Given the description of an element on the screen output the (x, y) to click on. 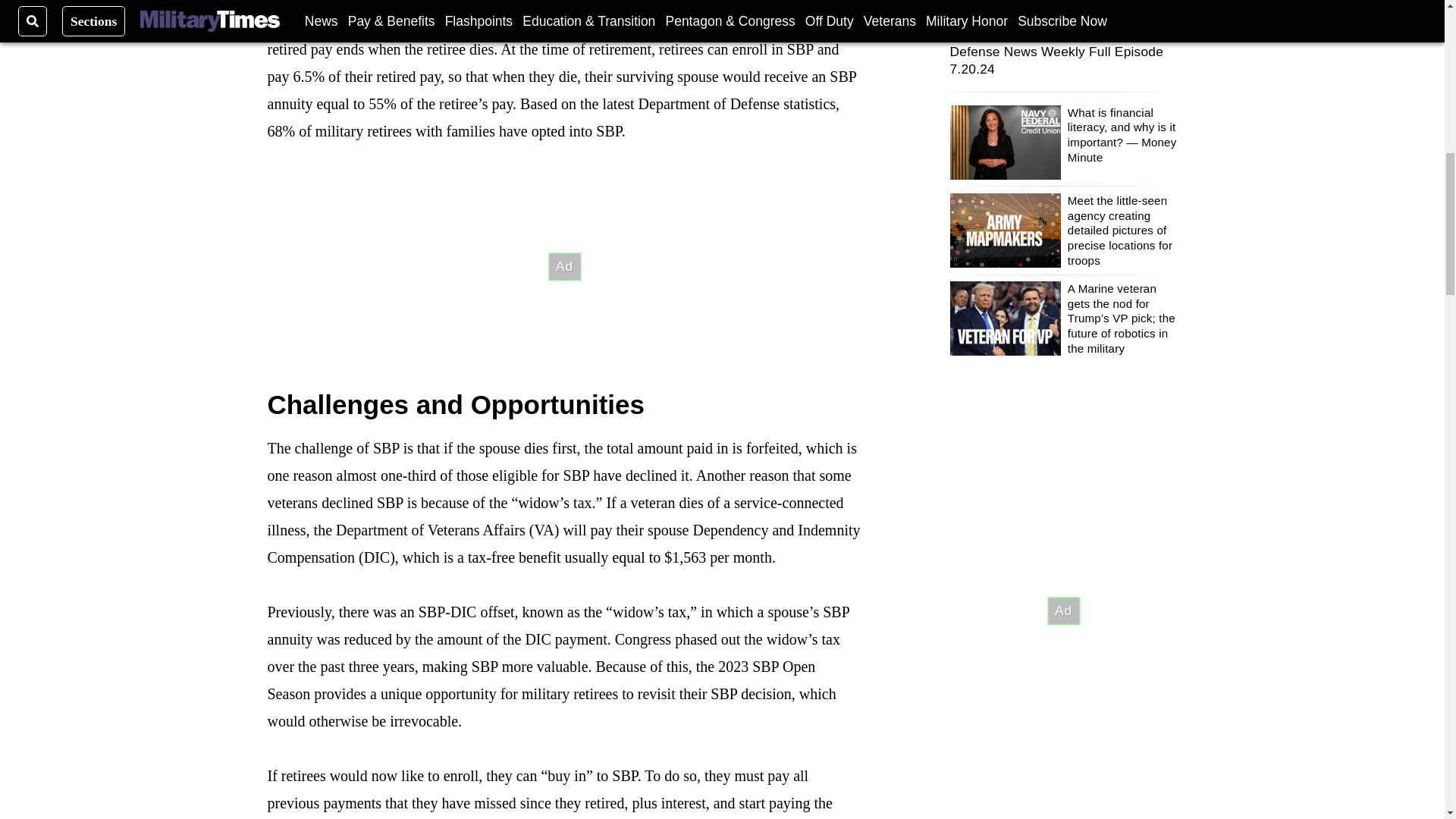
3rd party ad content (563, 266)
3rd party ad content (1062, 610)
